Given the description of an element on the screen output the (x, y) to click on. 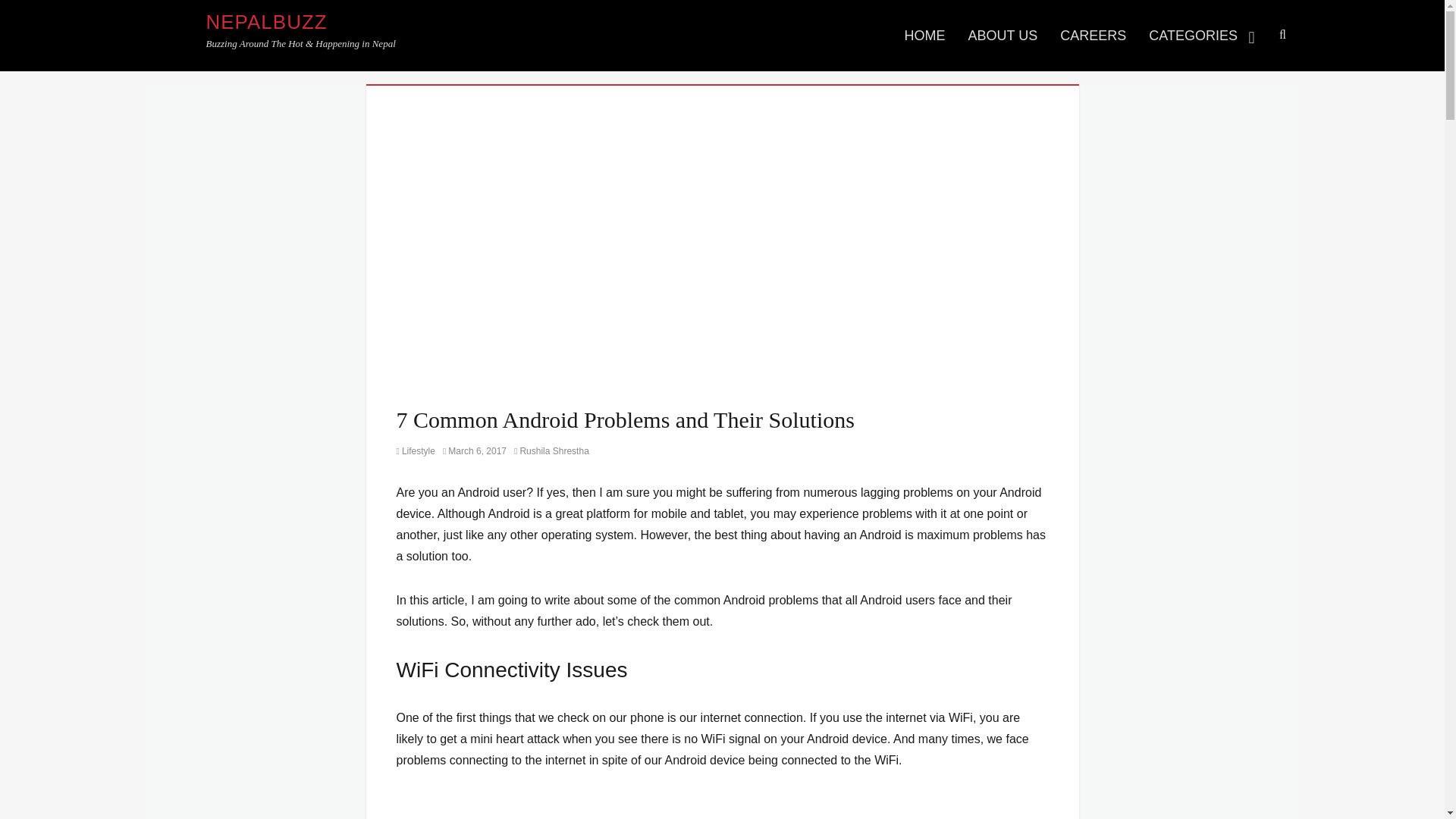
ABOUT US (1002, 35)
CAREERS (1092, 35)
Rushila Shrestha (551, 450)
Lifestyle (414, 450)
CATEGORIES (1202, 35)
NEPALBUZZ (266, 21)
HOME (924, 35)
March 6, 2017 (474, 450)
